Given the description of an element on the screen output the (x, y) to click on. 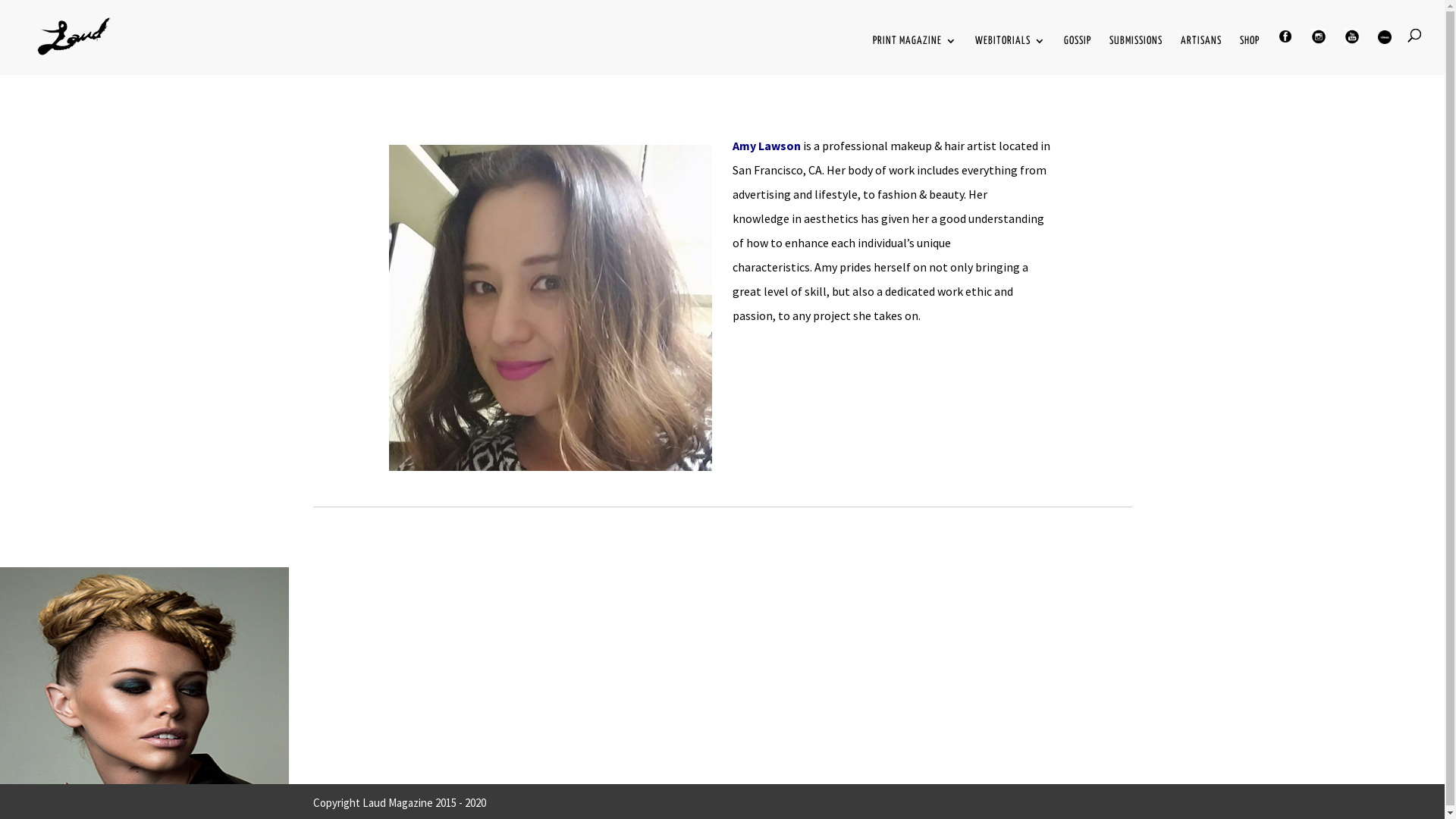
SHOP Element type: text (1249, 55)
ARTISANS Element type: text (1200, 55)
GOSSIP Element type: text (1077, 55)
WEBITORIALS Element type: text (1010, 55)
PRINT MAGAZINE Element type: text (914, 55)
SUBMISSIONS Element type: text (1135, 55)
Amy Lawson Element type: text (767, 145)
